Given the description of an element on the screen output the (x, y) to click on. 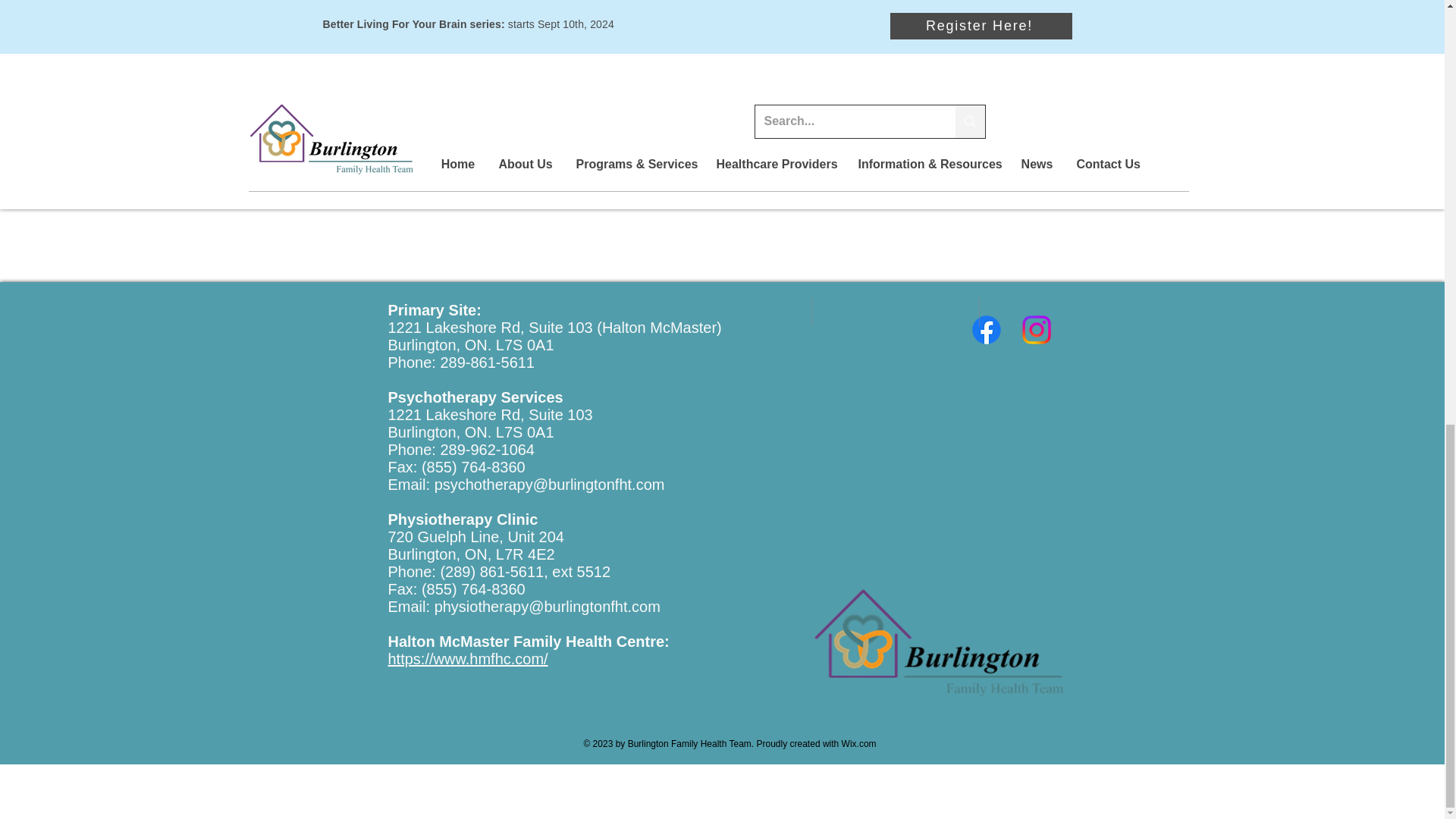
Wix.com (858, 743)
